Given the description of an element on the screen output the (x, y) to click on. 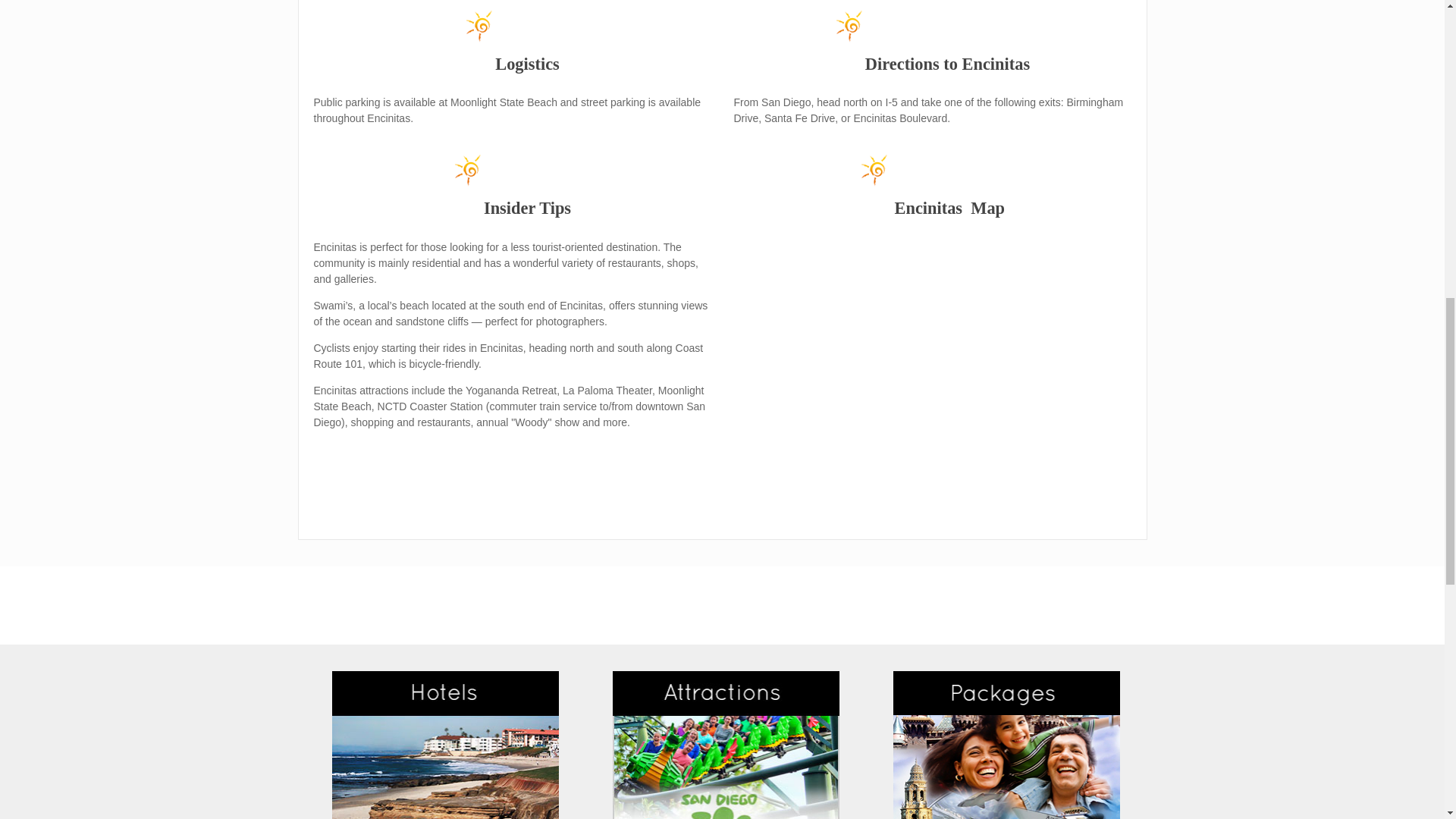
The Best Deals on Hotels (445, 744)
San Diego Travel Packages (1007, 744)
Discount Attraction Tickets (726, 744)
